Given the description of an element on the screen output the (x, y) to click on. 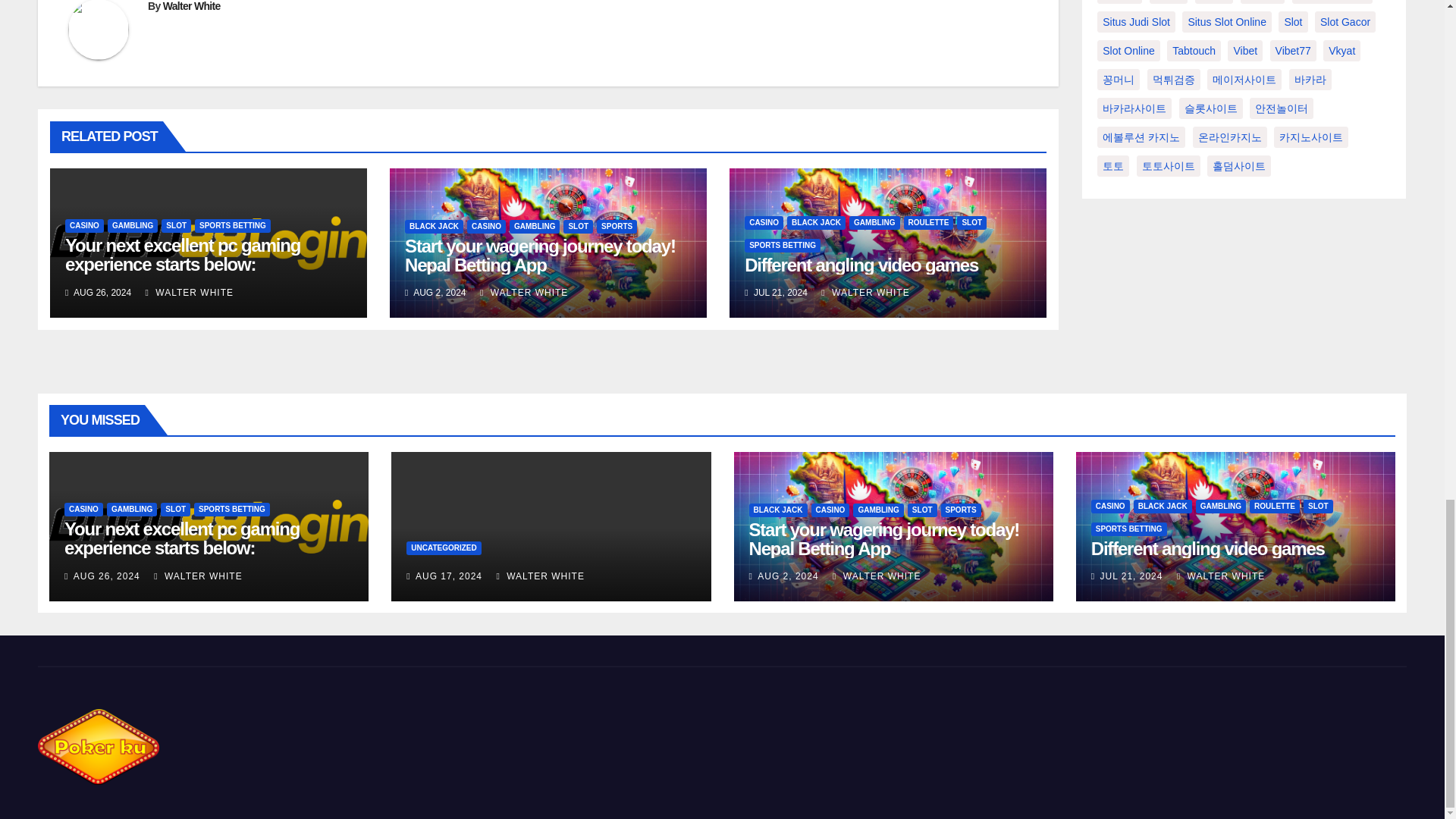
SPORTS BETTING (232, 225)
Permalink to: Different angling video games (861, 264)
CASINO (84, 225)
SLOT (175, 225)
Walter White (192, 6)
WALTER WHITE (188, 292)
